Given the description of an element on the screen output the (x, y) to click on. 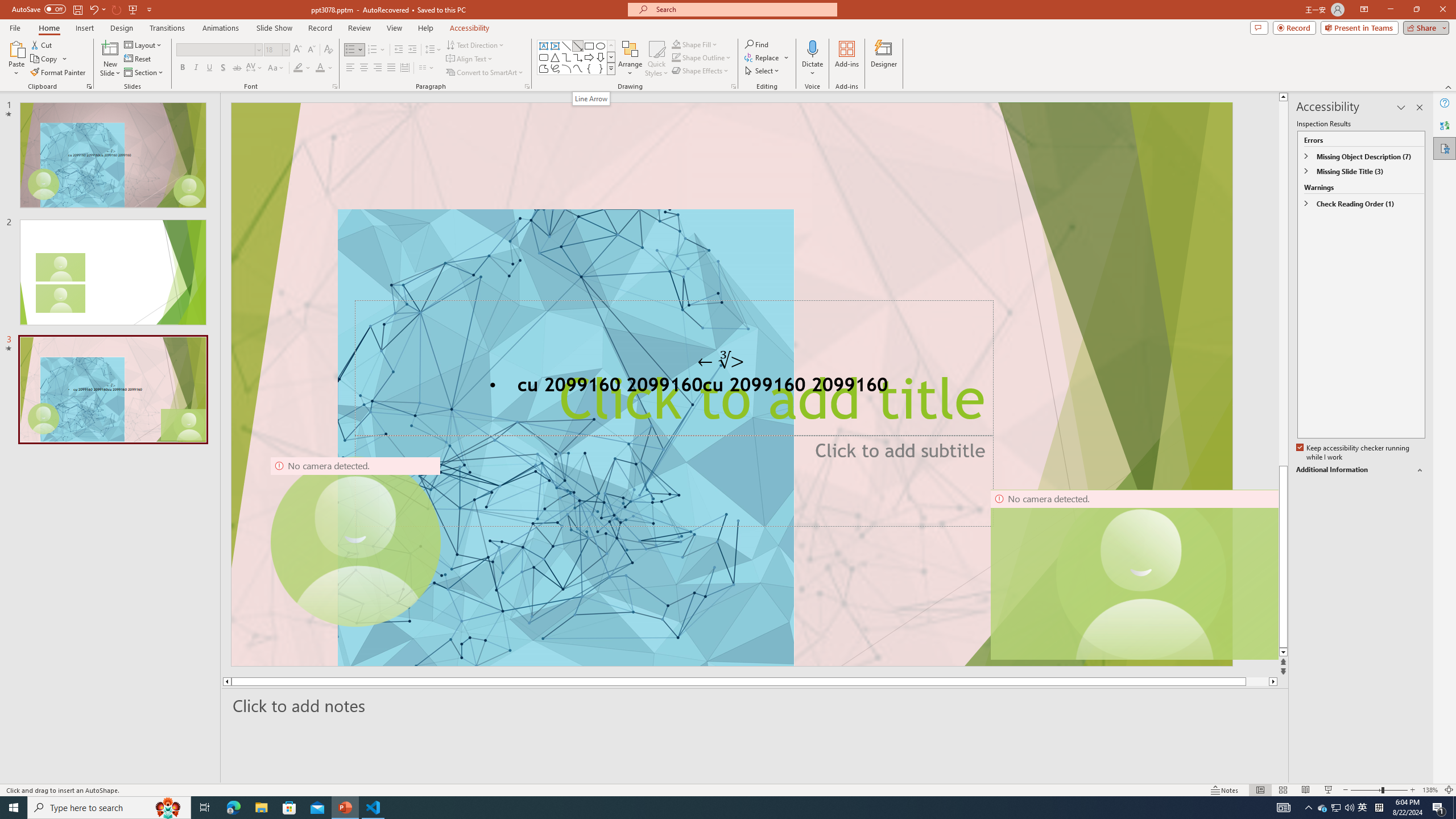
Change Case (276, 67)
Font... (334, 85)
Right Brace (600, 68)
Decrease Font Size (310, 49)
An abstract genetic concept (731, 384)
